Given the description of an element on the screen output the (x, y) to click on. 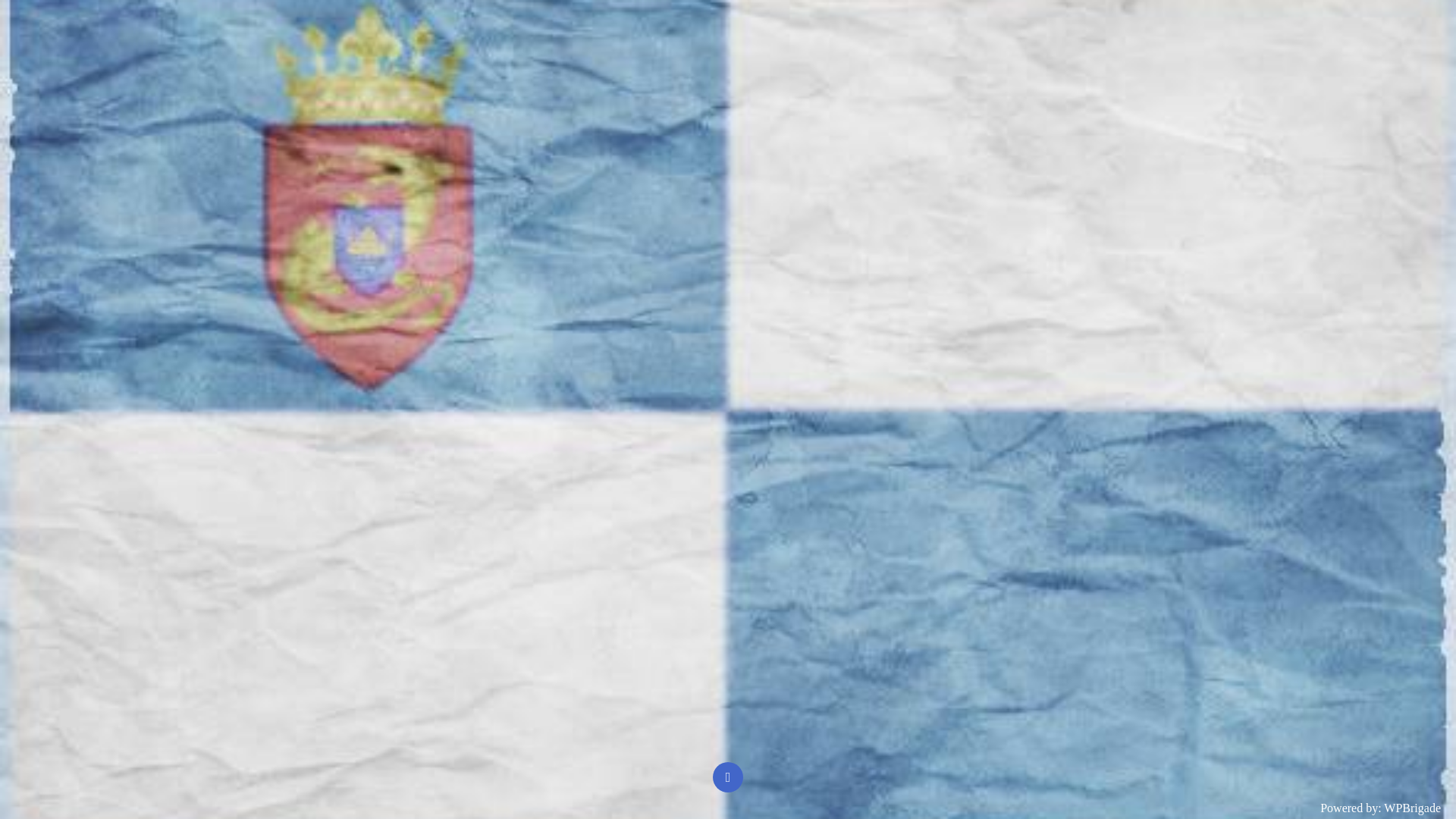
WPBrigade Element type: text (1411, 807)
